Given the description of an element on the screen output the (x, y) to click on. 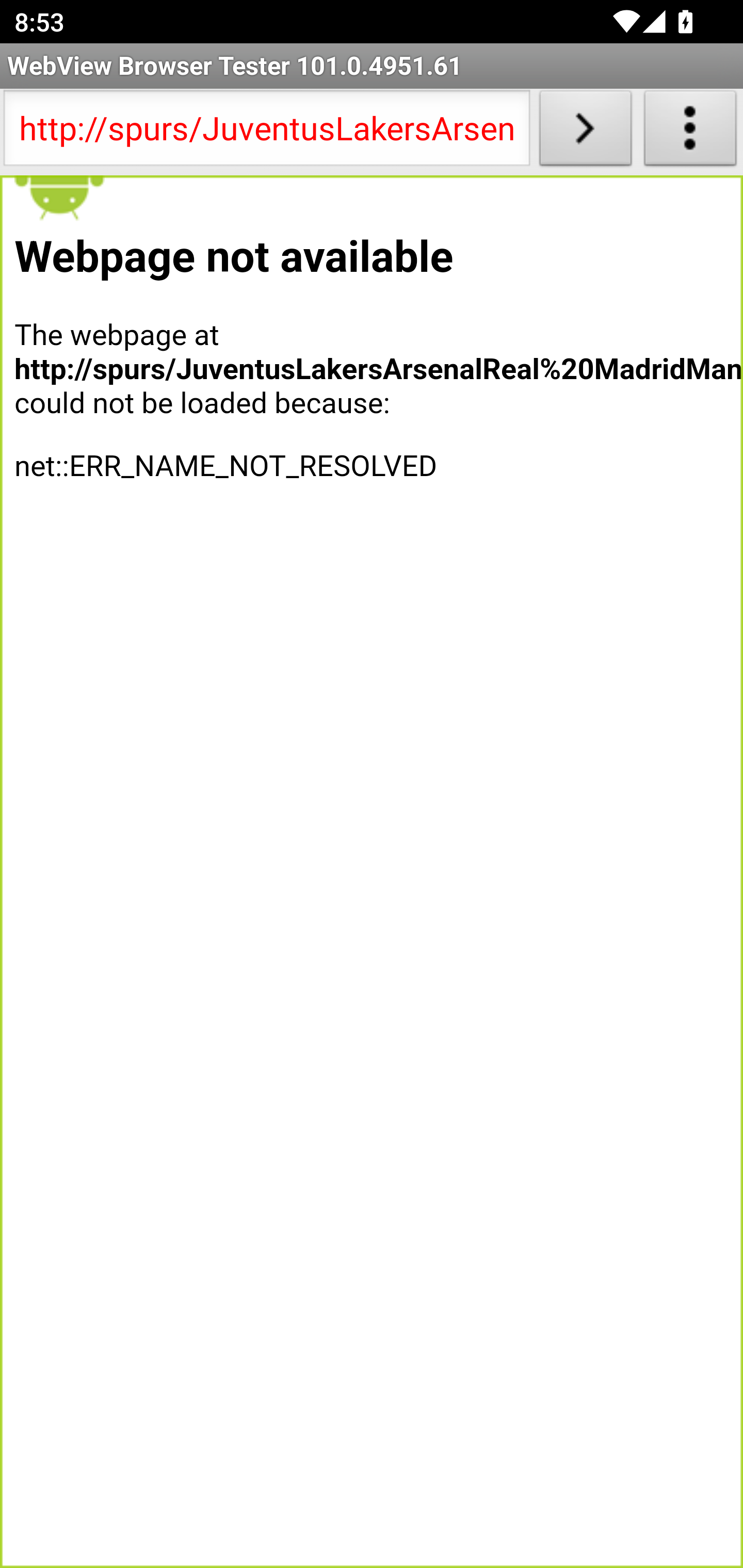
Load URL (585, 132)
About WebView (690, 132)
